Given the description of an element on the screen output the (x, y) to click on. 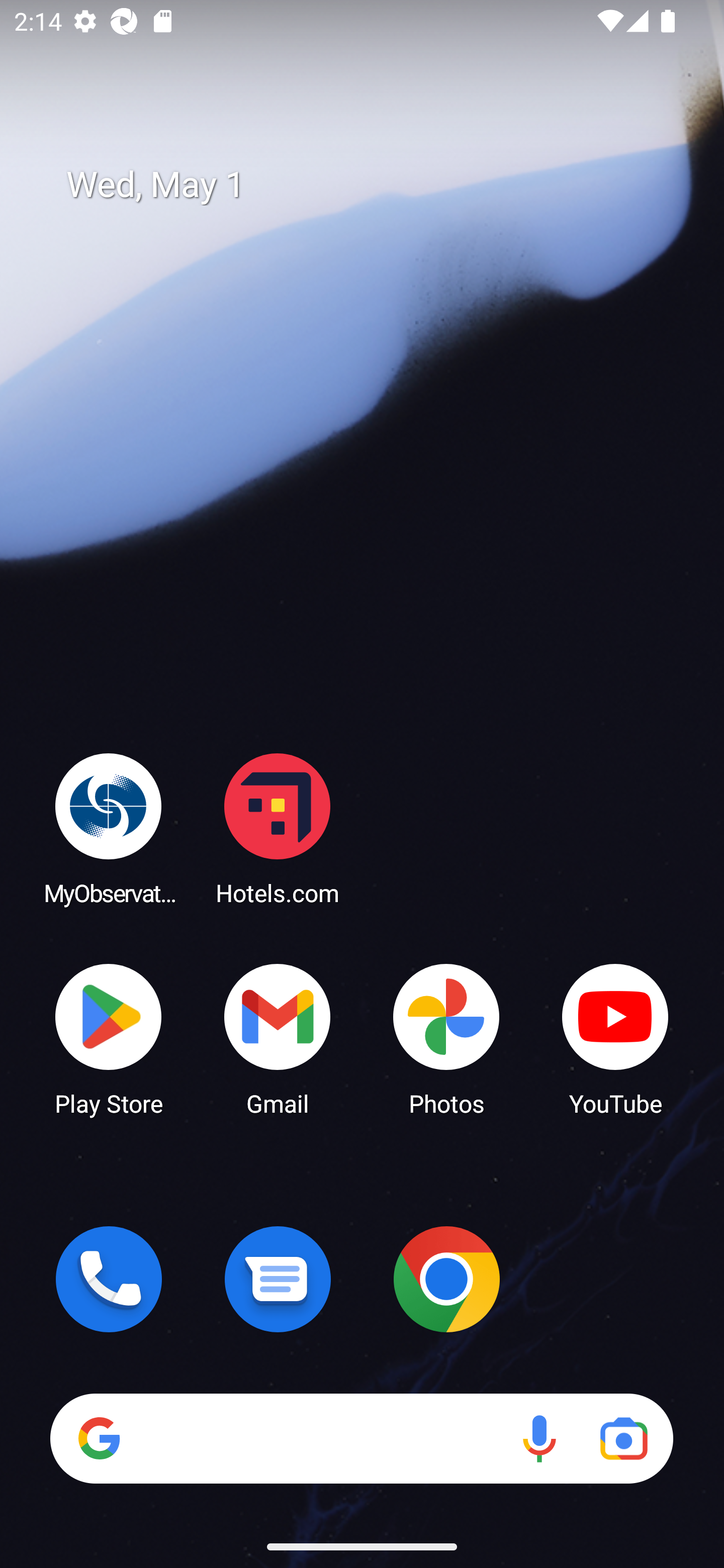
Wed, May 1 (375, 184)
MyObservatory (108, 828)
Hotels.com (277, 828)
Play Store (108, 1038)
Gmail (277, 1038)
Photos (445, 1038)
YouTube (615, 1038)
Phone (108, 1279)
Messages (277, 1279)
Chrome (446, 1279)
Search Voice search Google Lens (361, 1438)
Voice search (539, 1438)
Google Lens (623, 1438)
